Given the description of an element on the screen output the (x, y) to click on. 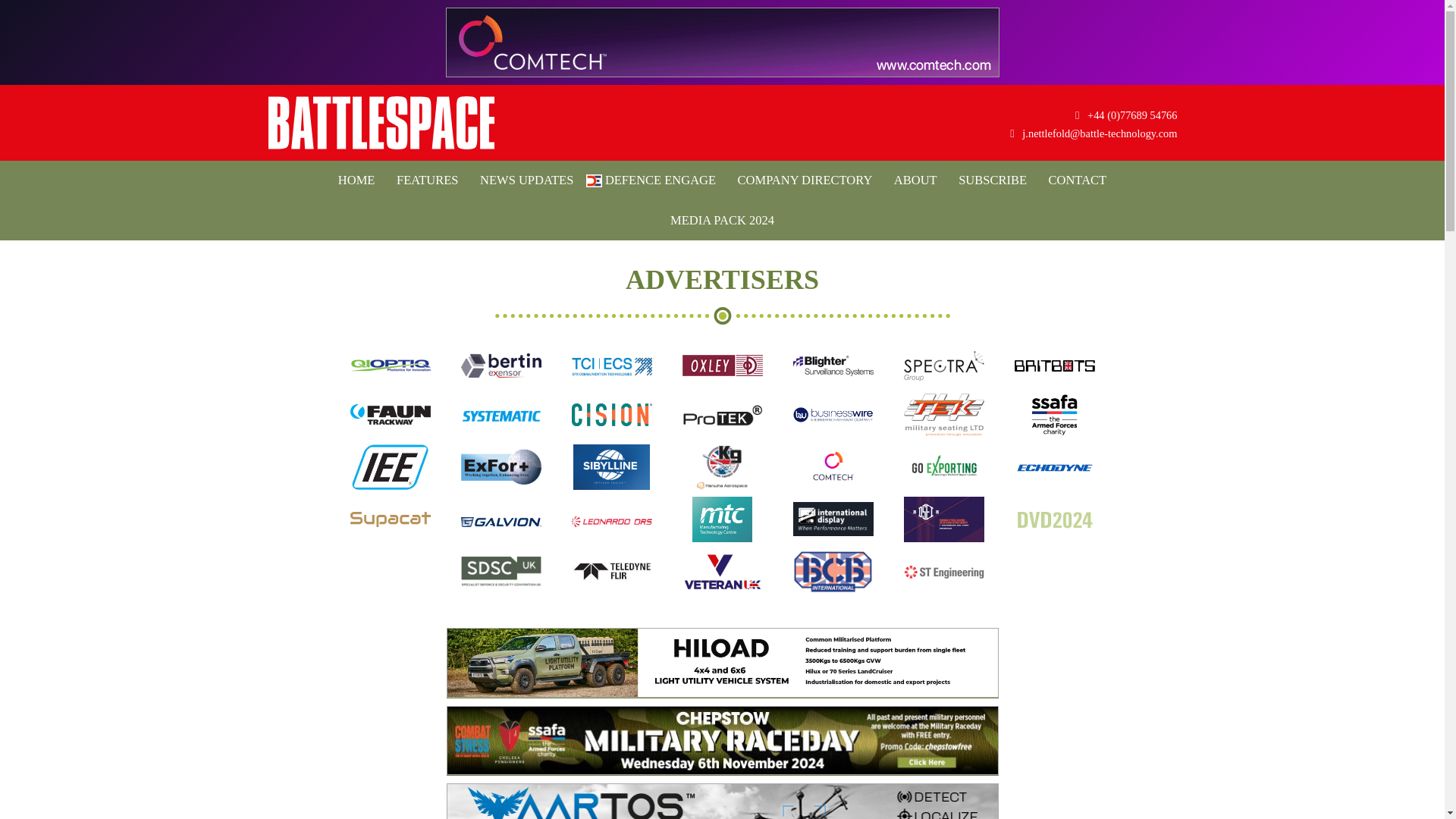
SUBSCRIBE (992, 180)
HOME (356, 180)
FEATURES (427, 180)
CONTACT (1077, 180)
Opens PDF in new window. (722, 219)
qioptiq.com (390, 374)
ABOUT (915, 180)
NEWS UPDATES (526, 180)
MEDIA PACK 2024 (722, 219)
